Given the description of an element on the screen output the (x, y) to click on. 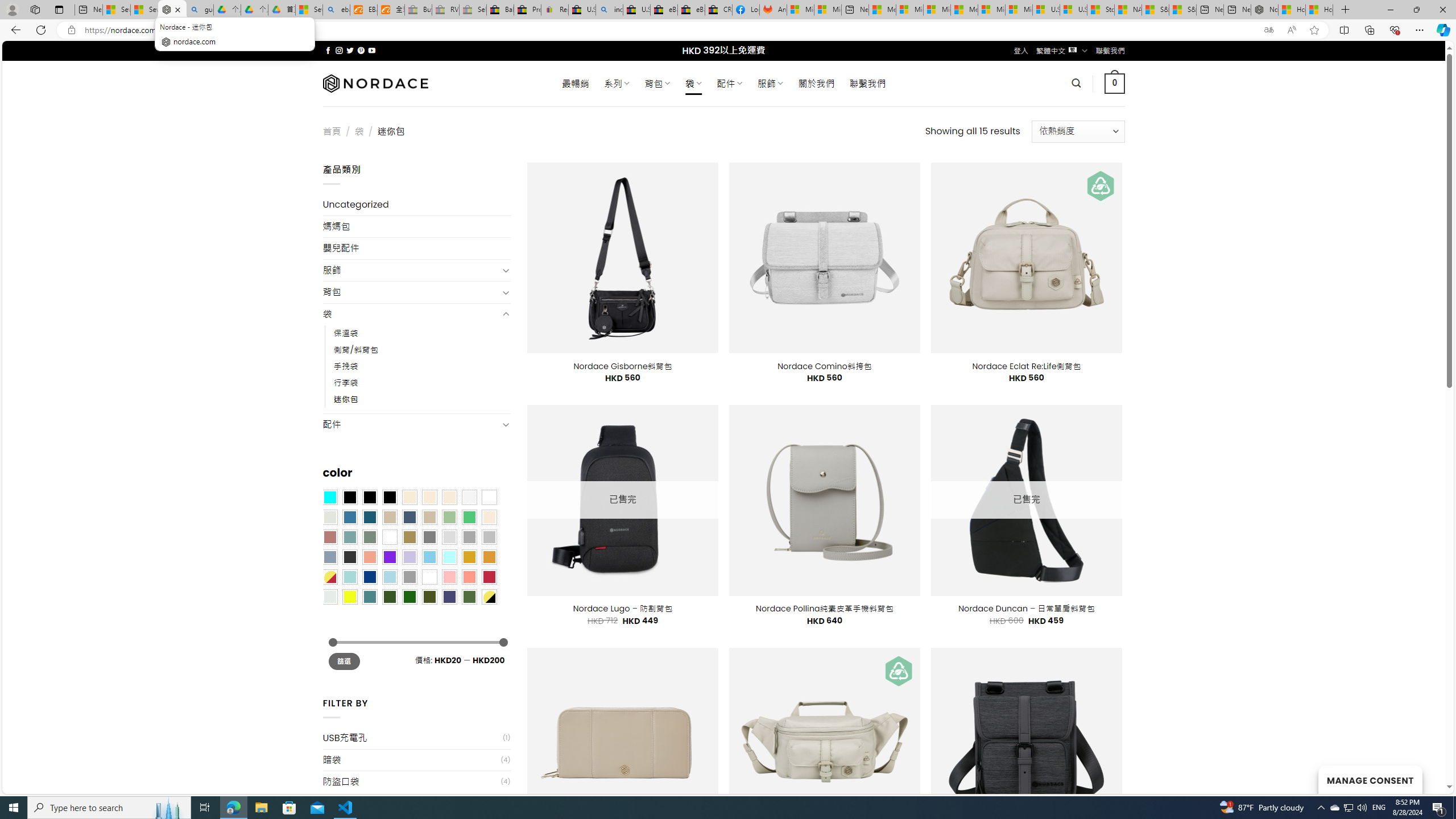
 0  (1115, 83)
guge yunpan - Search (200, 9)
